Given the description of an element on the screen output the (x, y) to click on. 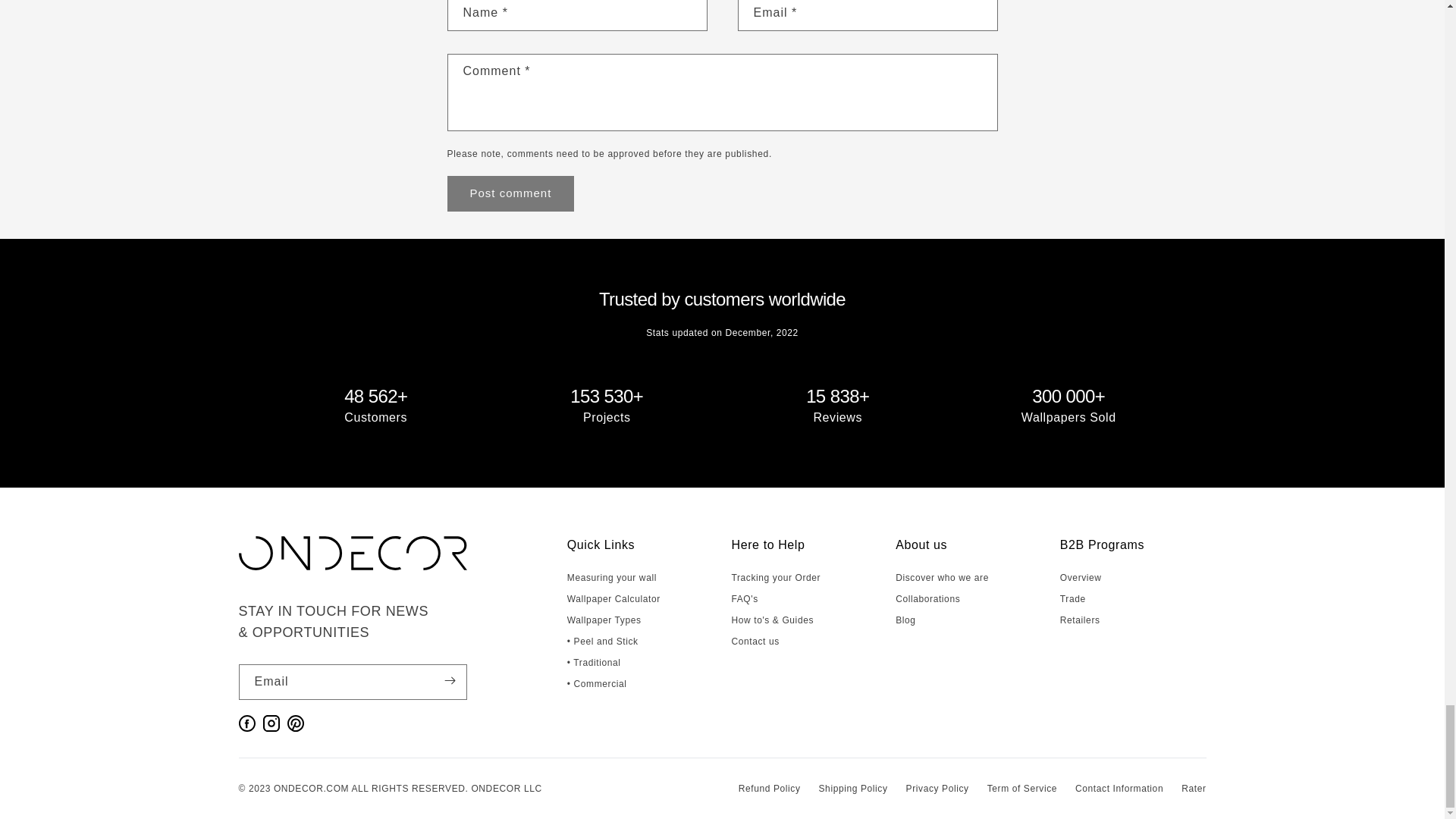
Post comment (510, 193)
